Given the description of an element on the screen output the (x, y) to click on. 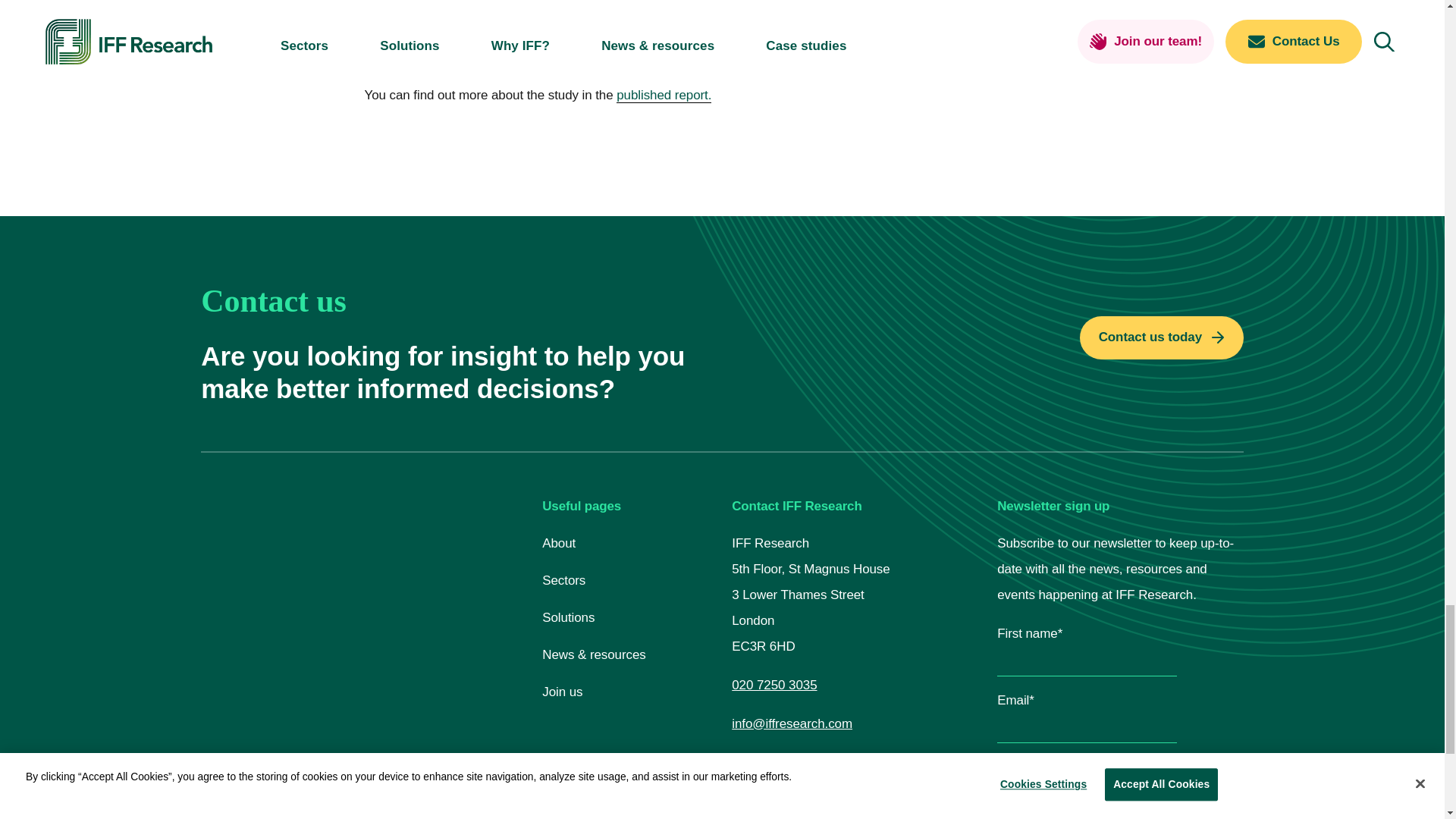
Start your project (1161, 337)
